Given the description of an element on the screen output the (x, y) to click on. 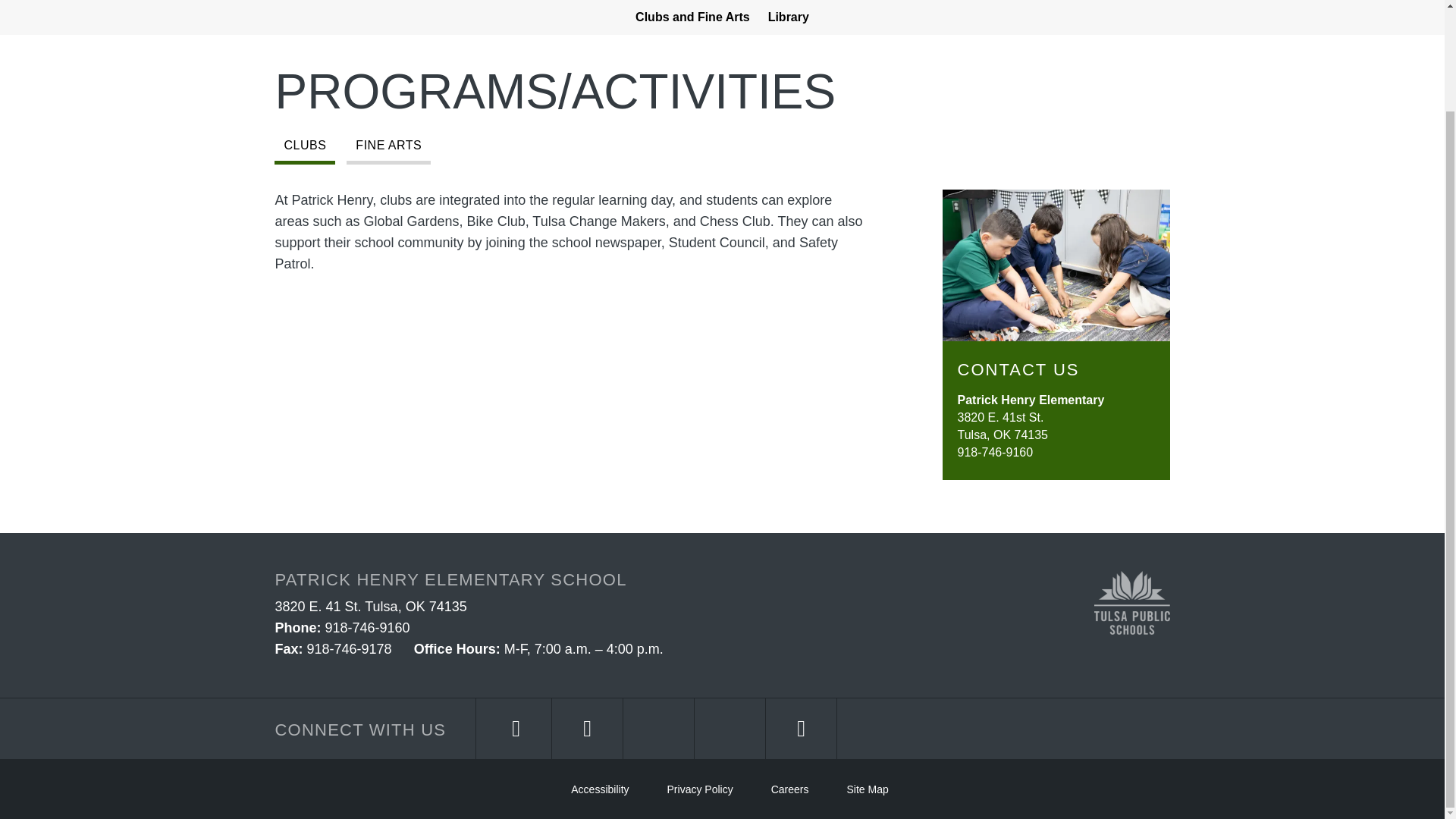
Powered by Finalsite opens in a new window (325, 788)
